Given the description of an element on the screen output the (x, y) to click on. 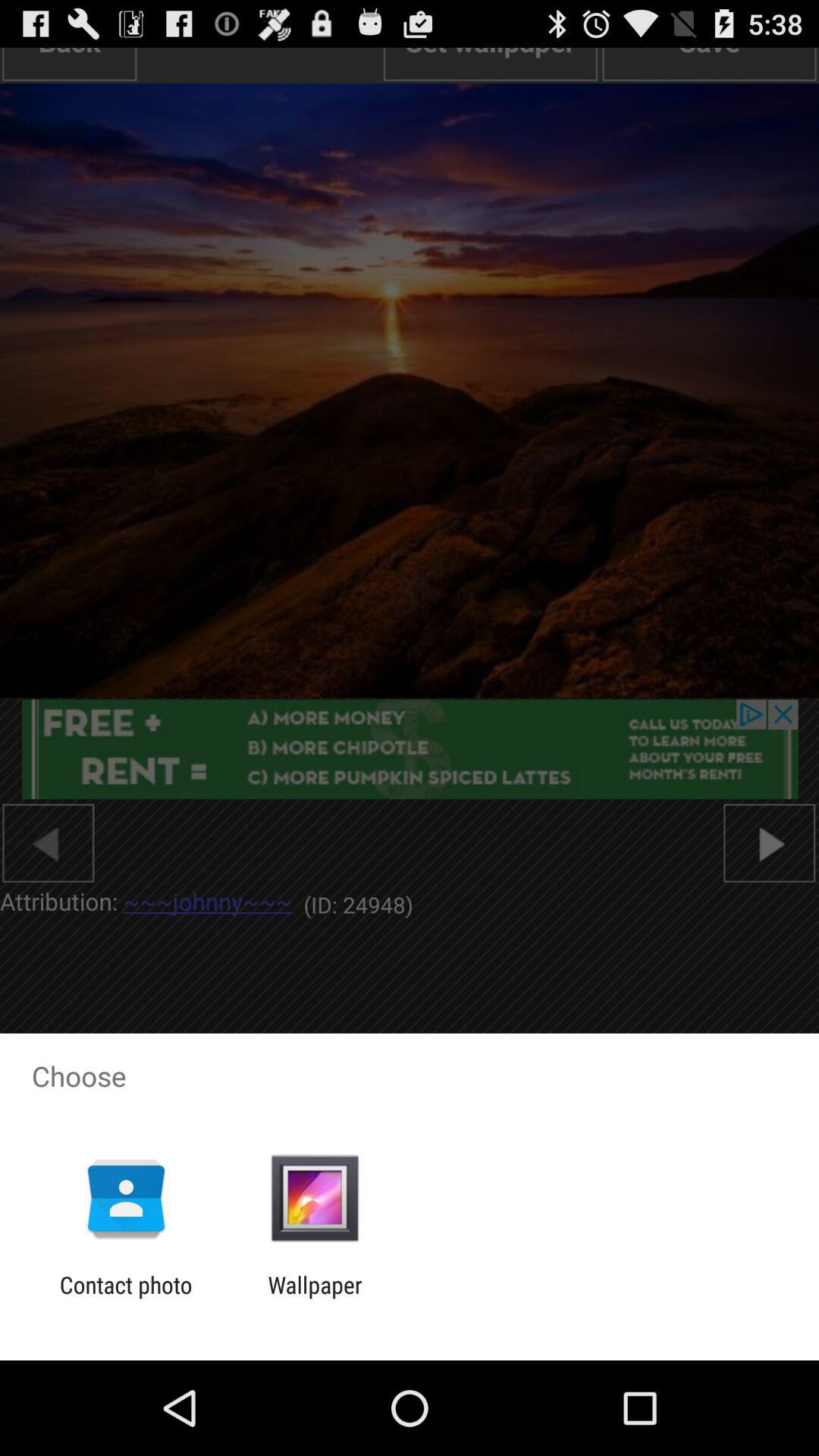
tap item to the right of contact photo (314, 1298)
